Given the description of an element on the screen output the (x, y) to click on. 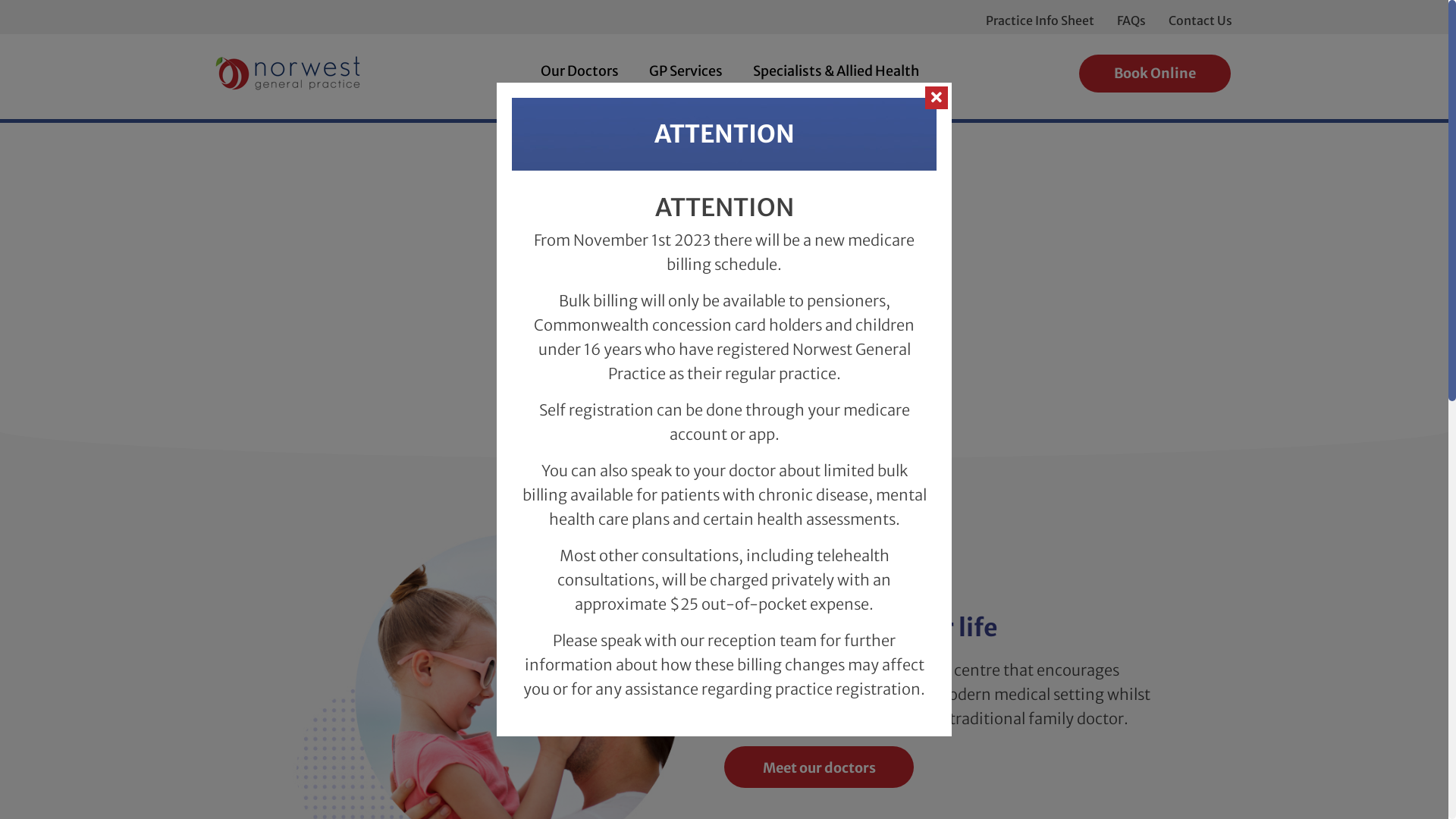
Practice Info Sheet Element type: text (1039, 20)
GP Services Element type: text (685, 70)
Book Online Element type: text (1154, 73)
Contact Us Element type: text (1200, 20)
Specialists & Allied Health Element type: text (835, 70)
FAQs Element type: text (1131, 20)
Meet our doctors Element type: text (818, 766)
Our Doctors Element type: text (579, 70)
